Given the description of an element on the screen output the (x, y) to click on. 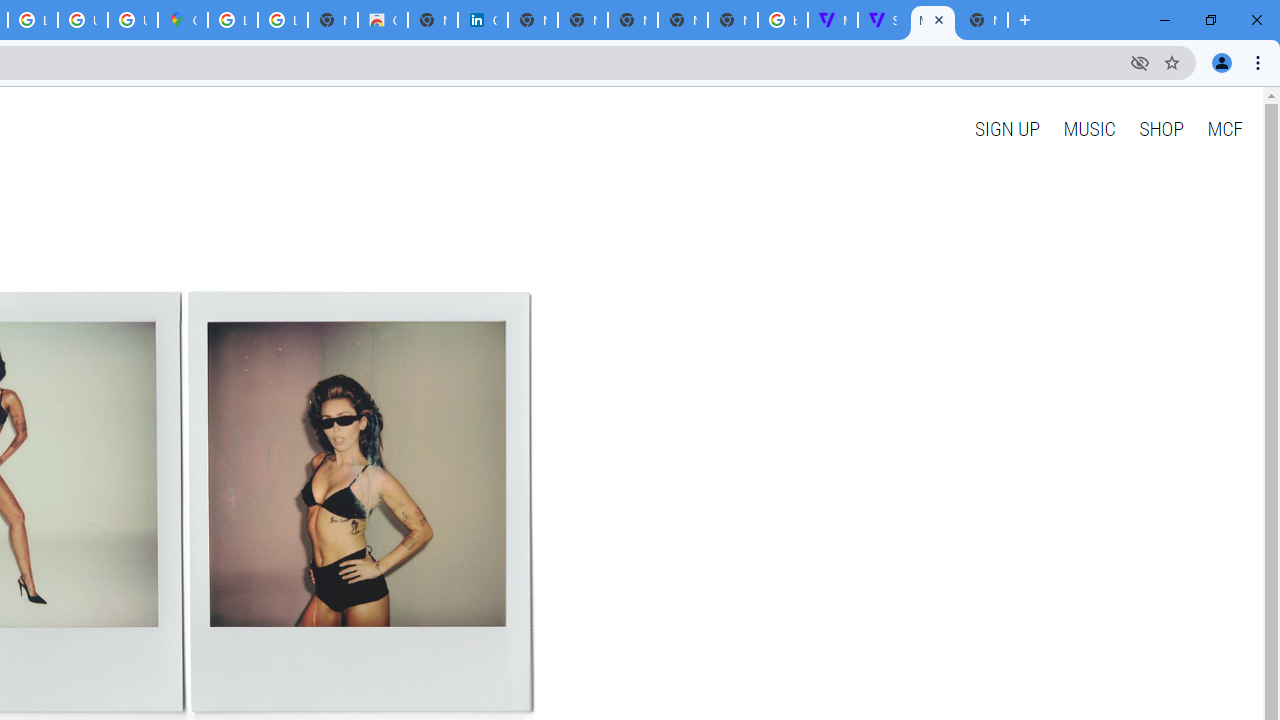
MUSIC (1089, 128)
Cookie Policy | LinkedIn (483, 20)
MCF (1224, 128)
SHOP (1161, 128)
MILEY CYRUS. (932, 20)
